Given the description of an element on the screen output the (x, y) to click on. 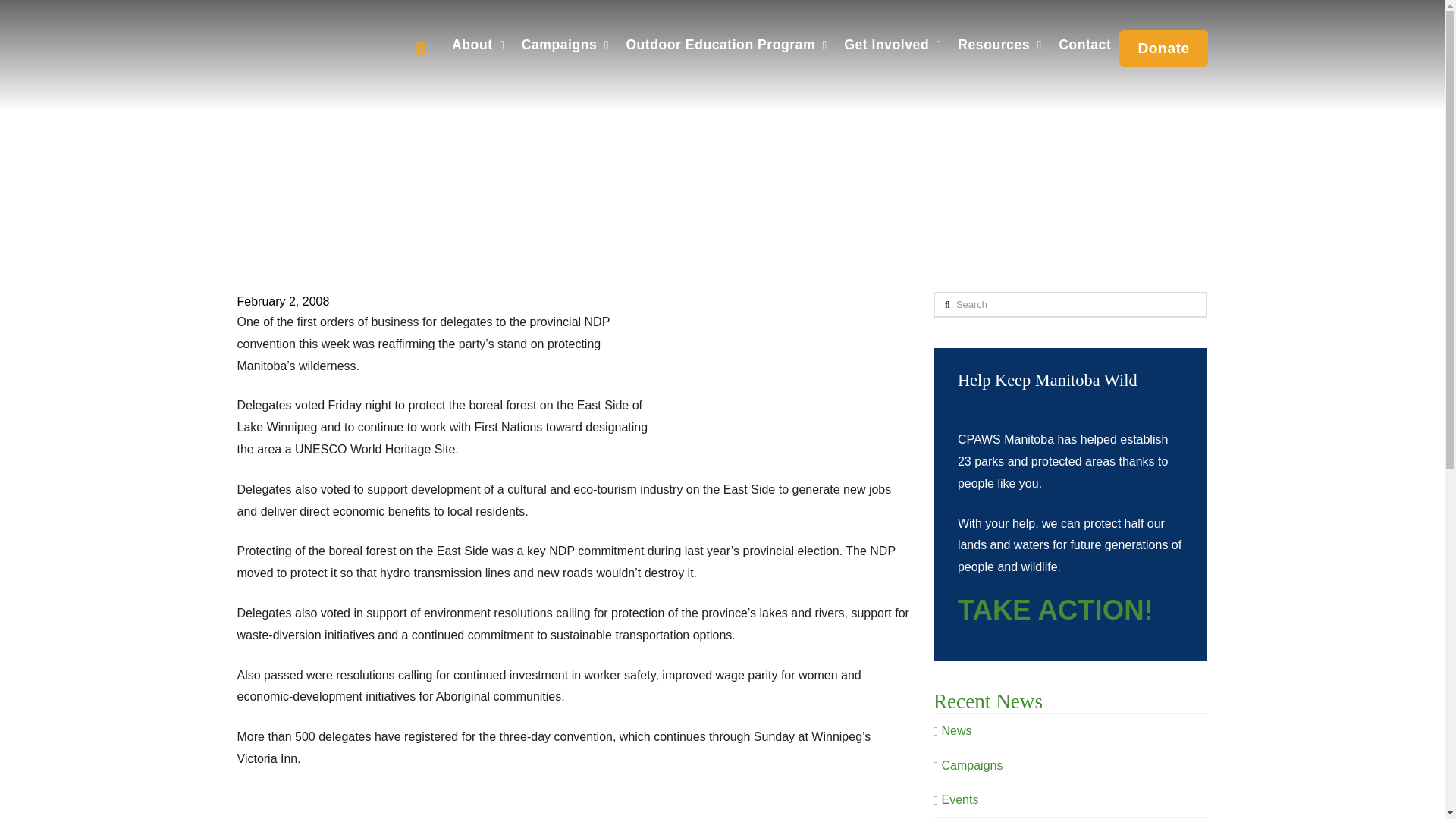
Outdoor Education Program (726, 45)
Get Involved (892, 45)
About (478, 45)
Resources (999, 45)
Campaigns (564, 45)
